Given the description of an element on the screen output the (x, y) to click on. 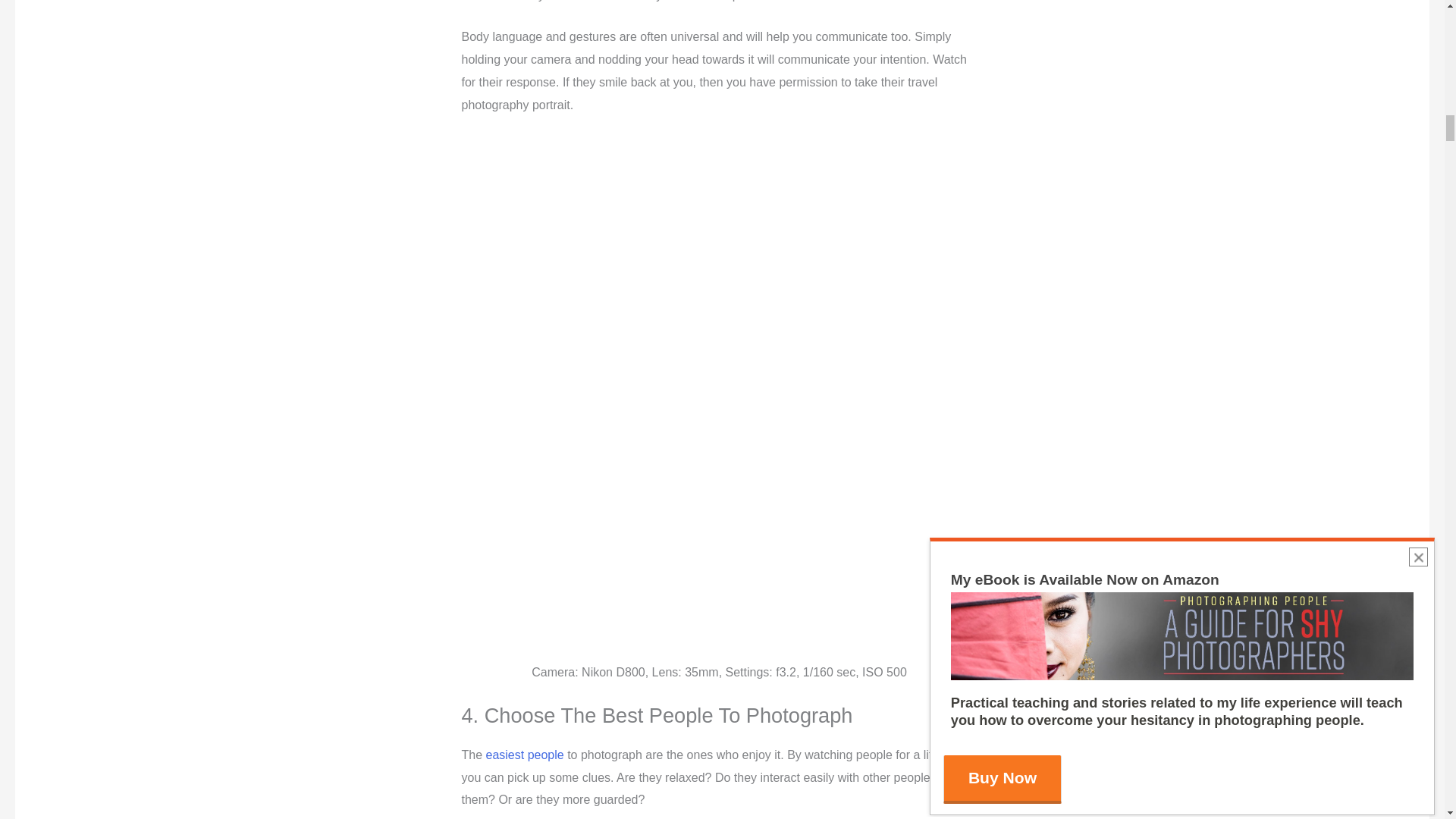
easiest people (525, 754)
